Given the description of an element on the screen output the (x, y) to click on. 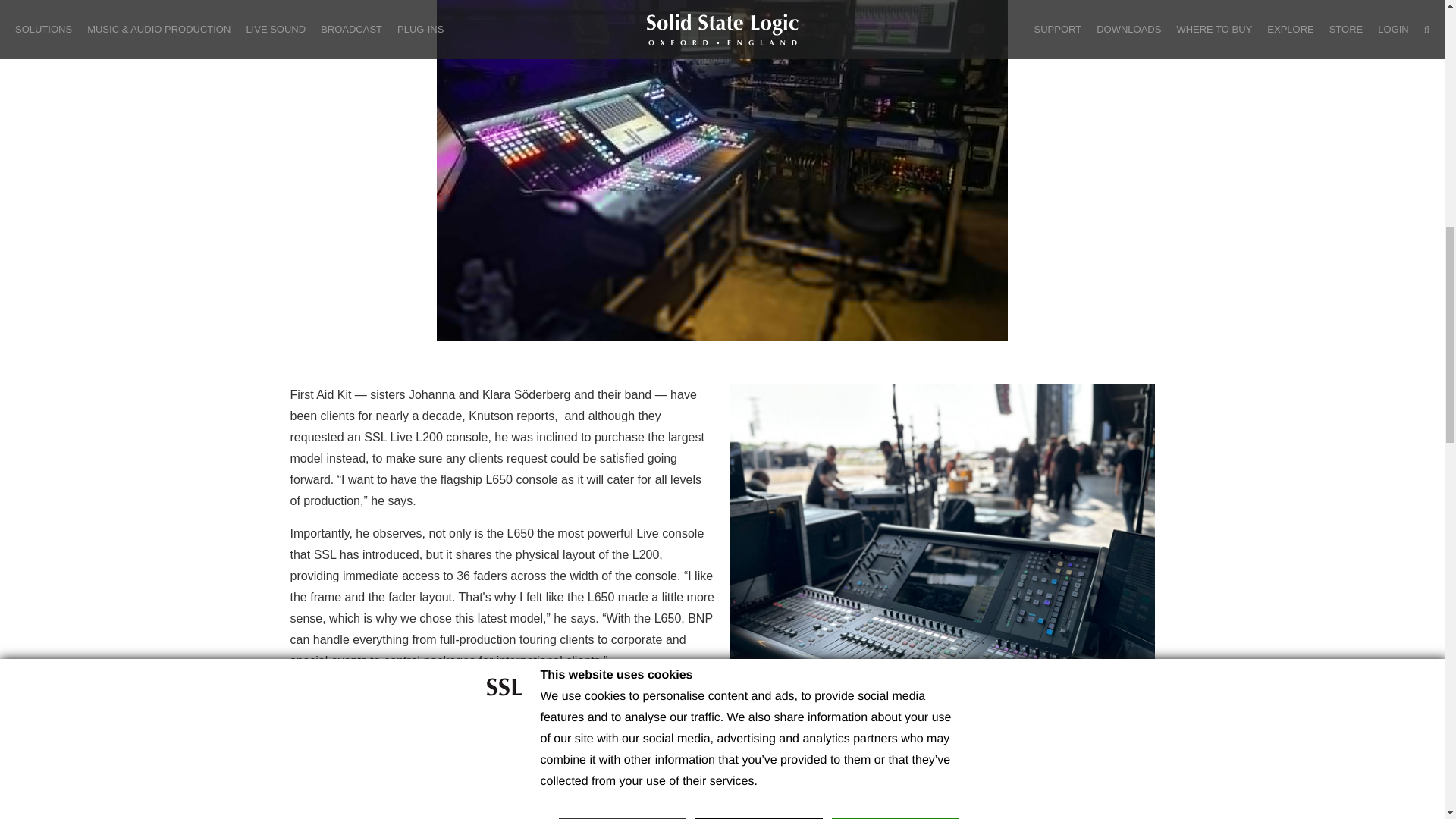
Show cookie details (901, 31)
Use required cookies only (621, 7)
Allow all cookies (894, 7)
Allow selection (758, 7)
